Given the description of an element on the screen output the (x, y) to click on. 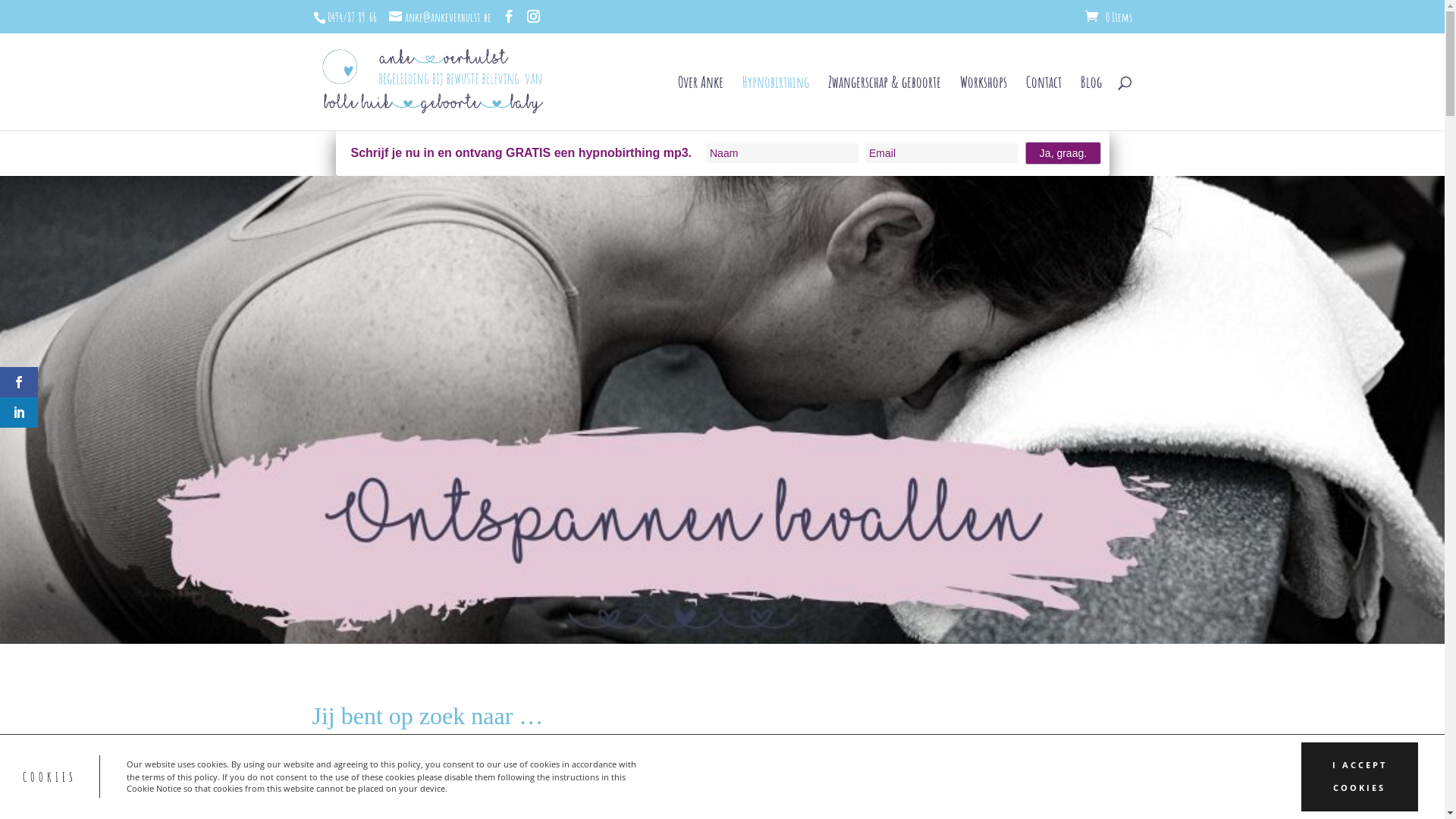
I ACCEPT COOKIES Element type: text (1359, 776)
Blog Element type: text (1090, 103)
Contact Element type: text (1042, 103)
Zwangerschap & geboorte Element type: text (884, 103)
Ja, graag. Element type: text (1063, 152)
Workshops Element type: text (983, 103)
Over Anke Element type: text (700, 103)
anke@ankeverhulst.be Element type: text (439, 17)
0 Items Element type: text (1107, 17)
Hypnobirthing Element type: text (774, 103)
